Given the description of an element on the screen output the (x, y) to click on. 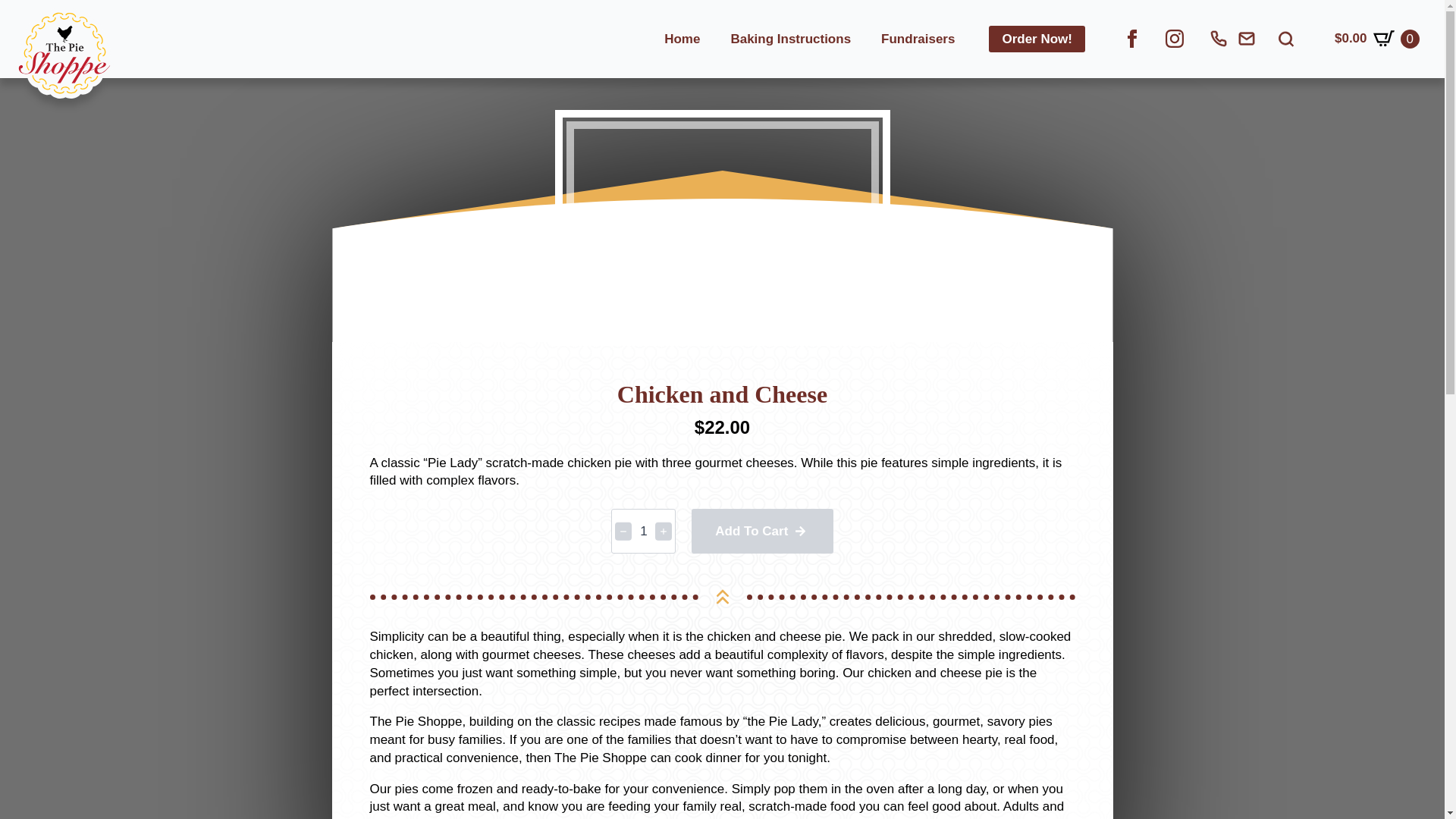
Add To Cart (761, 530)
1 (643, 530)
Baking Instructions (790, 38)
Fundraisers (917, 38)
Order Now! (1036, 38)
Home (681, 38)
